Given the description of an element on the screen output the (x, y) to click on. 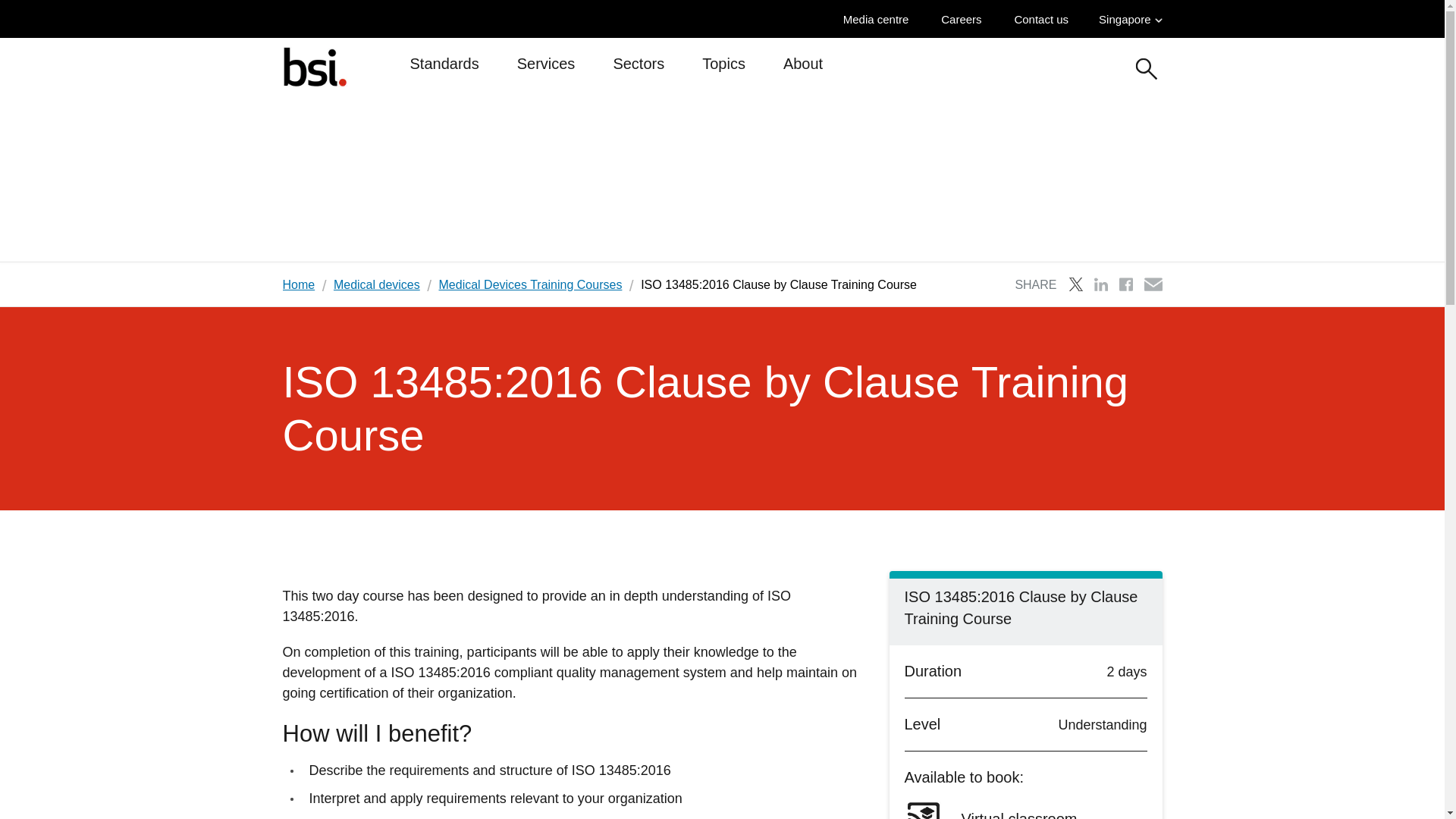
Careers (964, 19)
Contact us (1044, 19)
Standards (444, 70)
Contact us (1044, 19)
Singapore (1130, 19)
logo (314, 65)
Careers (964, 19)
Media centre (880, 19)
Media centre (880, 19)
